Given the description of an element on the screen output the (x, y) to click on. 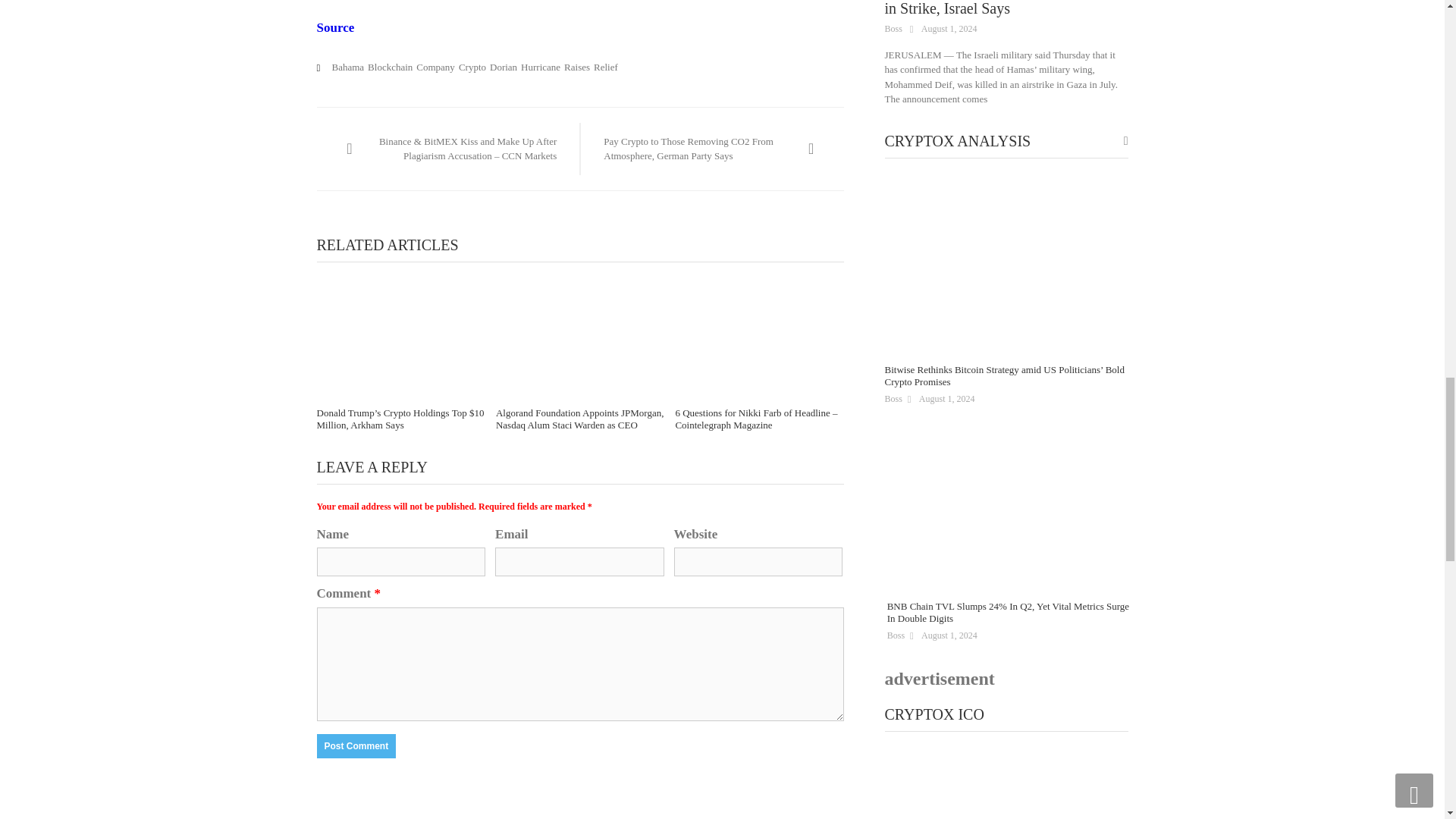
Post Comment (356, 745)
Supporting public authorities to be open and transparent (1004, 786)
